Given the description of an element on the screen output the (x, y) to click on. 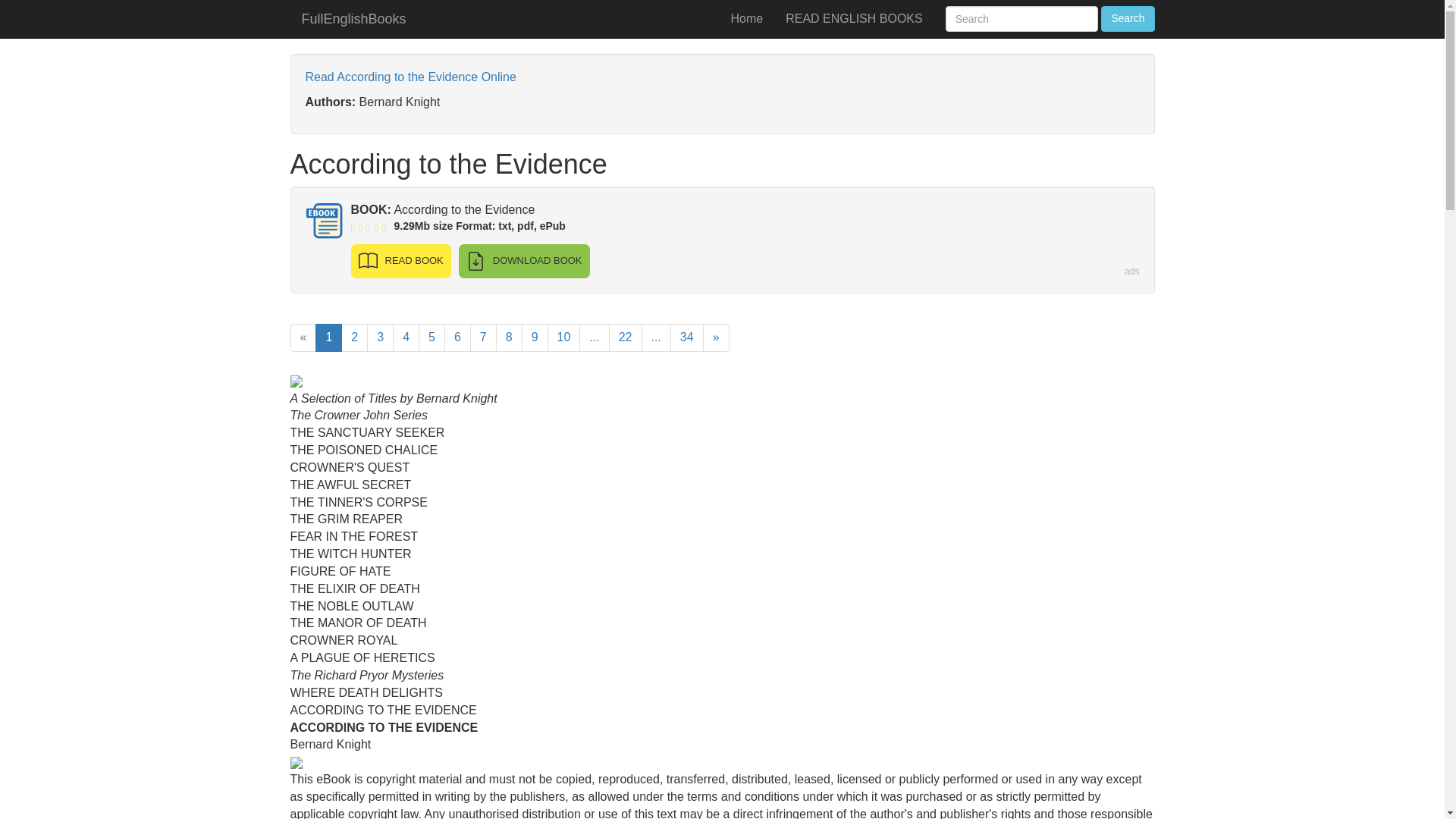
4 (406, 337)
Search (1127, 18)
34 (686, 337)
7 (483, 337)
10 (563, 337)
Read According to the Evidence Online (409, 76)
Home (746, 18)
9 (534, 337)
6 (457, 337)
READ ENGLISH BOOKS (854, 18)
5 (432, 337)
8 (509, 337)
READ BOOK (399, 261)
2 (354, 337)
1 (328, 337)
